Given the description of an element on the screen output the (x, y) to click on. 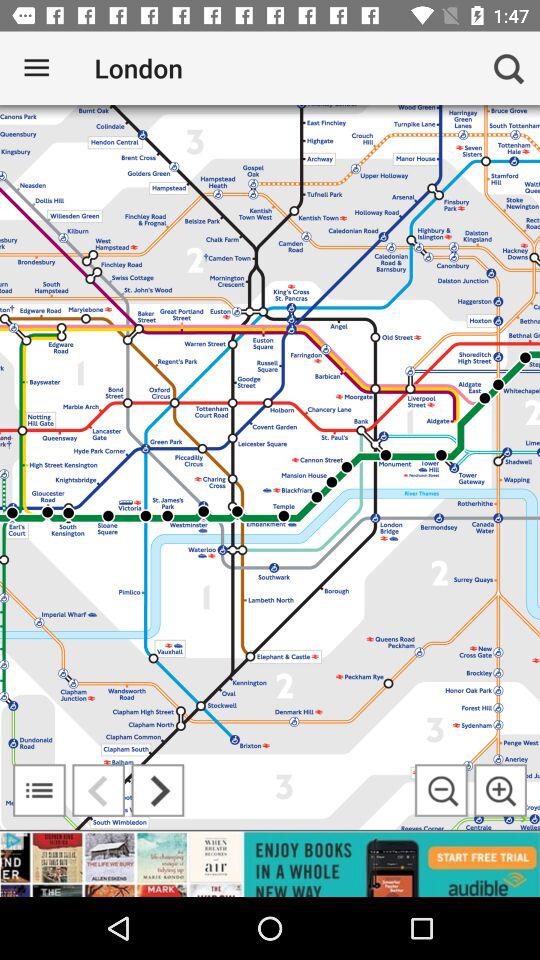
zoom out (441, 790)
